Given the description of an element on the screen output the (x, y) to click on. 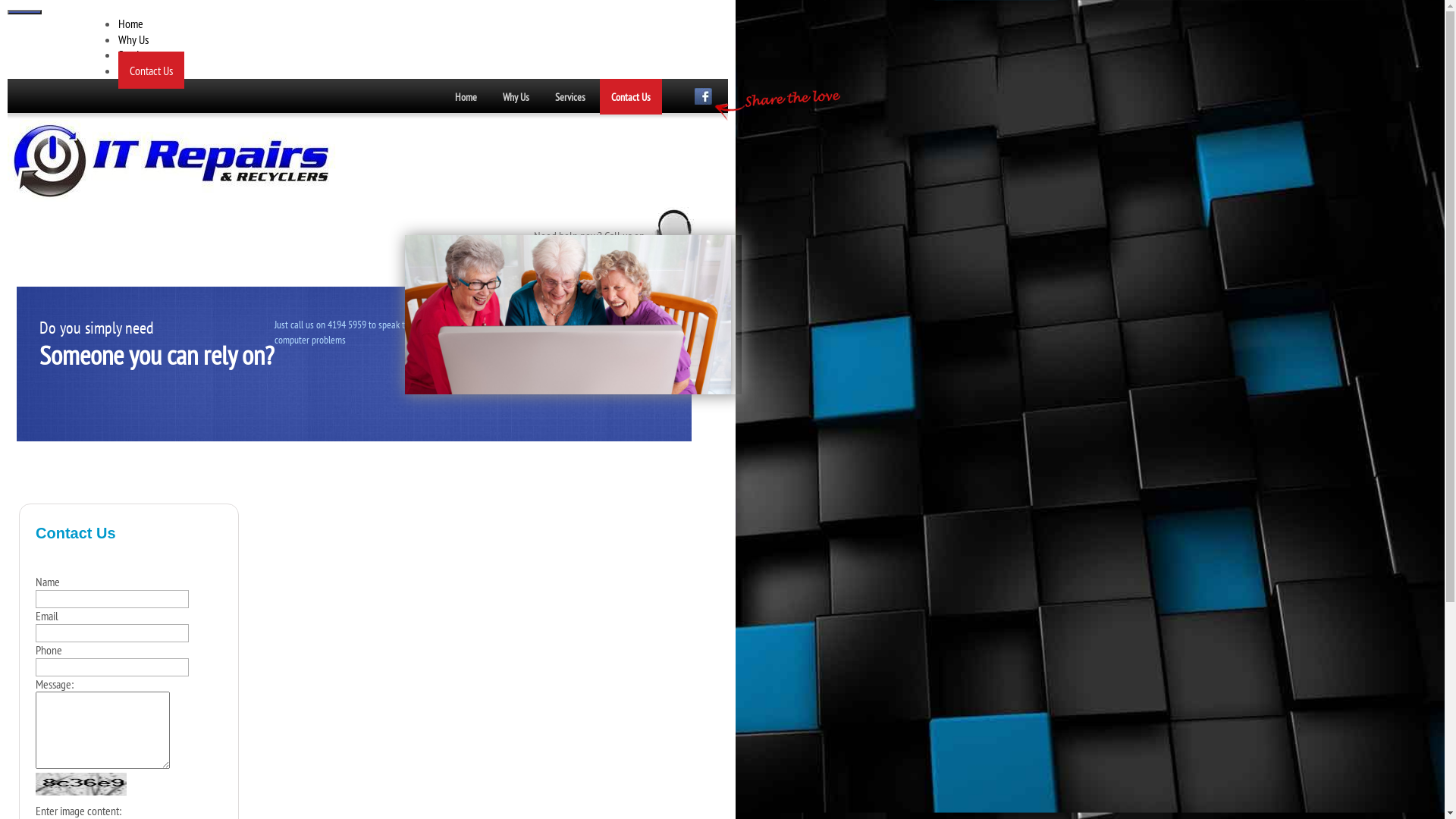
Services Element type: text (569, 96)
Services Element type: text (135, 54)
Why Us Element type: text (515, 96)
Home Element type: text (465, 96)
Contact Us Element type: text (151, 69)
Home Element type: text (130, 23)
Why Us Element type: text (133, 39)
Please enter a valid email address. Element type: hover (111, 633)
Contact Us Element type: text (630, 96)
